Given the description of an element on the screen output the (x, y) to click on. 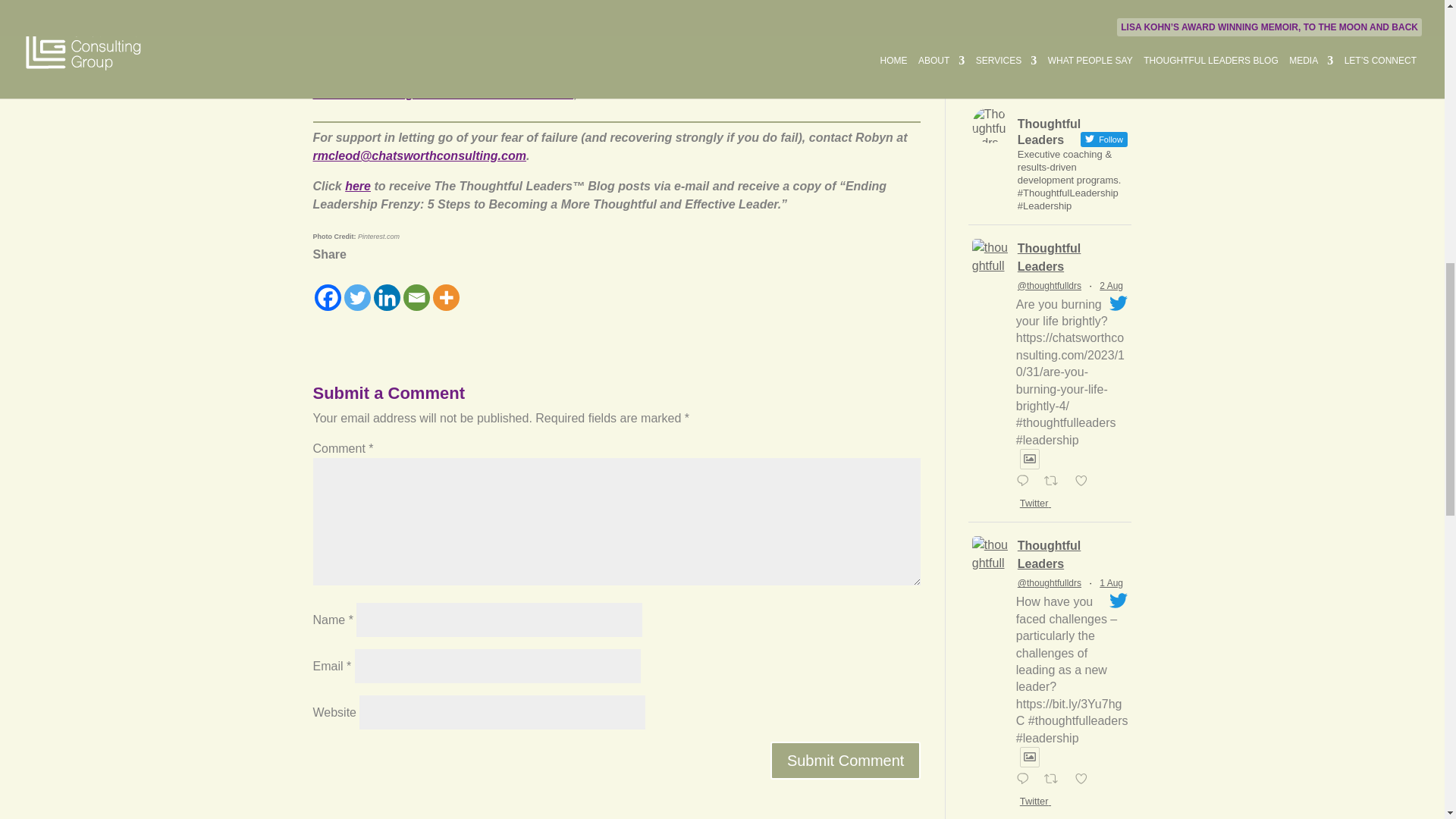
here (358, 185)
Click here to comment (377, 44)
Submit Comment (845, 760)
Submit Comment (845, 760)
